Given the description of an element on the screen output the (x, y) to click on. 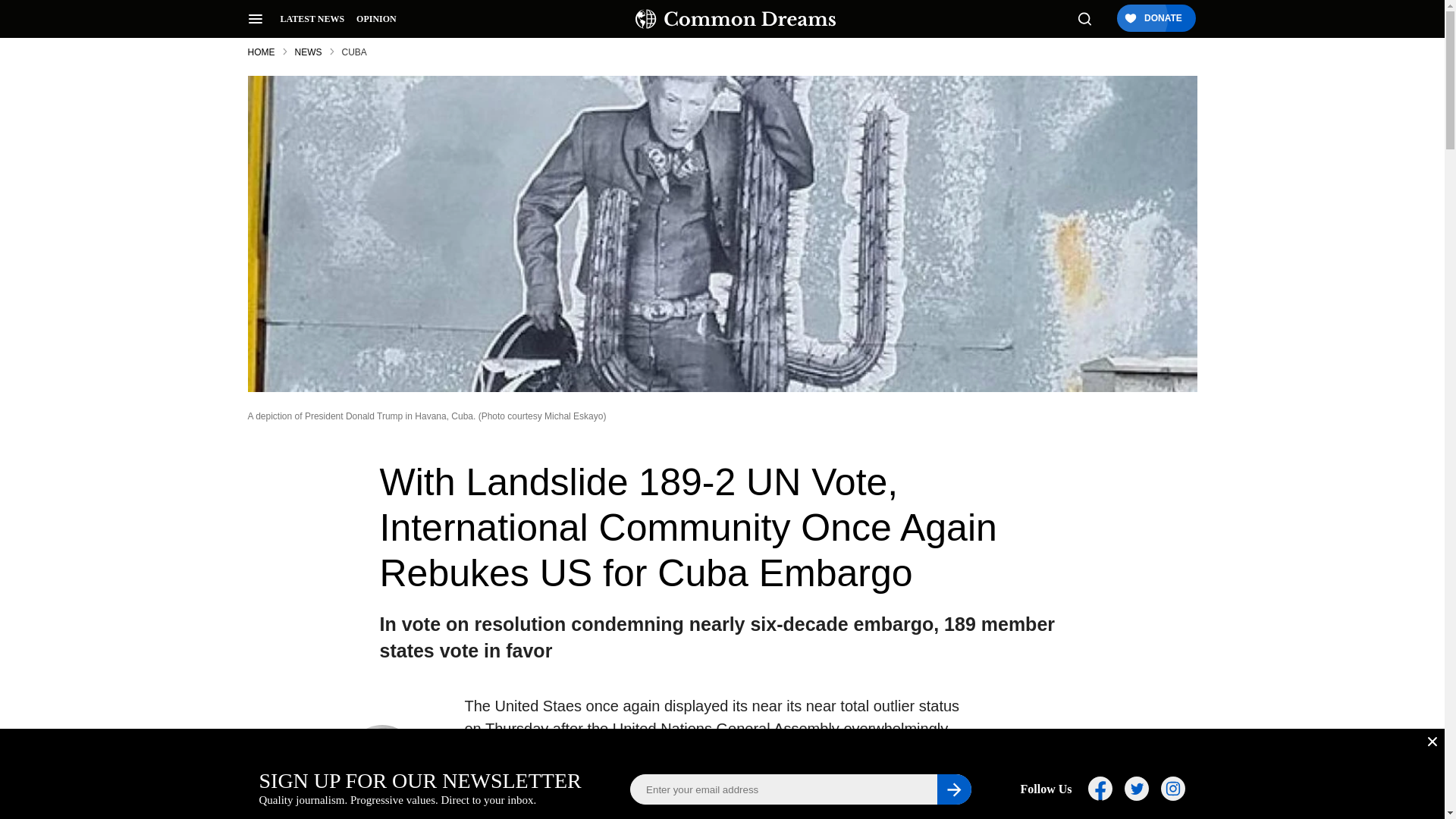
Donate Button (1154, 19)
OPINION (376, 18)
Common Dreams (734, 17)
LATEST NEWS (313, 18)
